Given the description of an element on the screen output the (x, y) to click on. 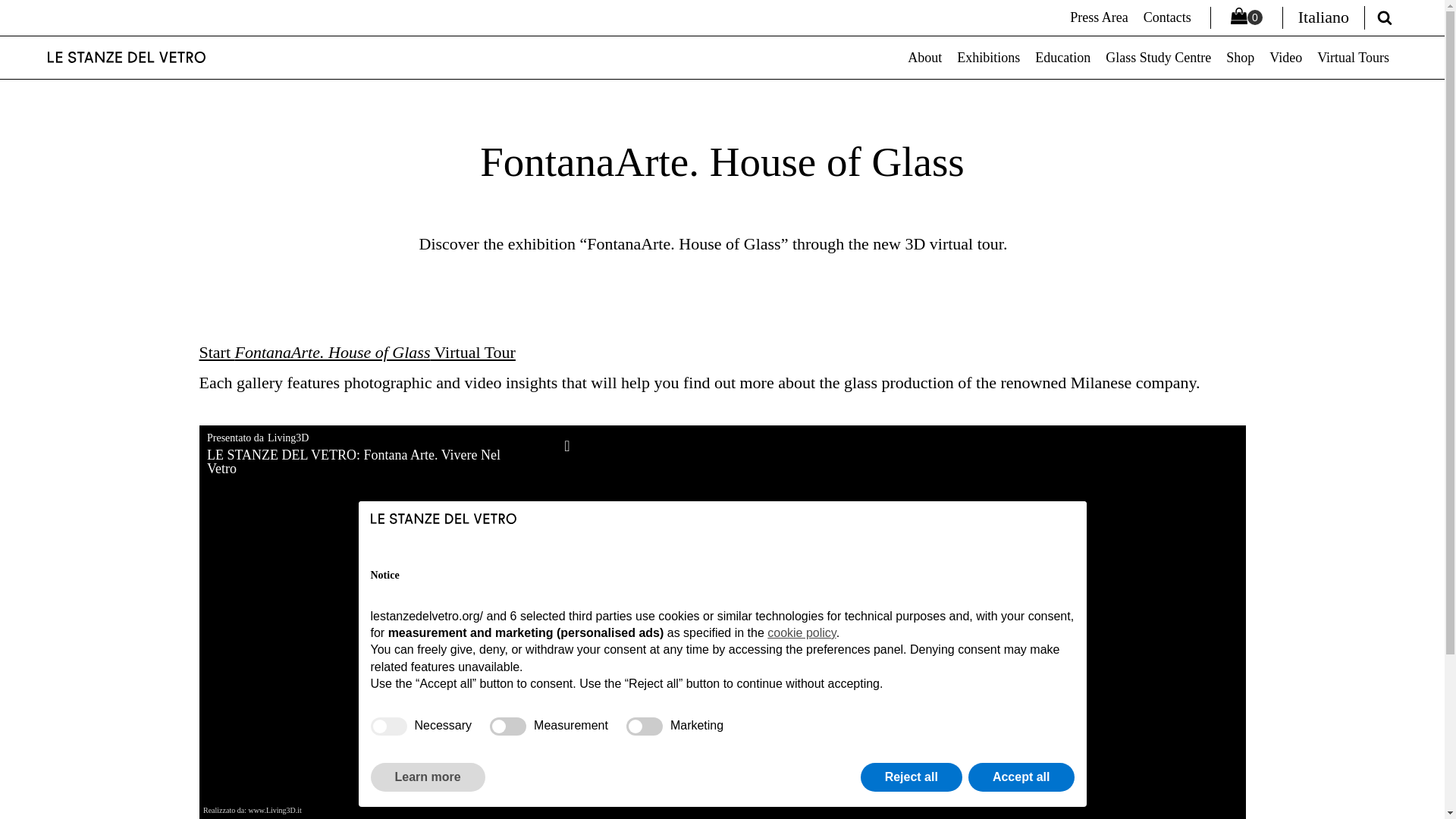
Glass Study Centre (1158, 57)
Video (1285, 57)
Contacts (1166, 17)
Shop (1239, 57)
Start FontanaArte. House of Glass Virtual Tour (356, 352)
Virtual Tours (1353, 57)
Exhibitions (988, 57)
Education (1062, 57)
About (924, 57)
false (644, 726)
